Given the description of an element on the screen output the (x, y) to click on. 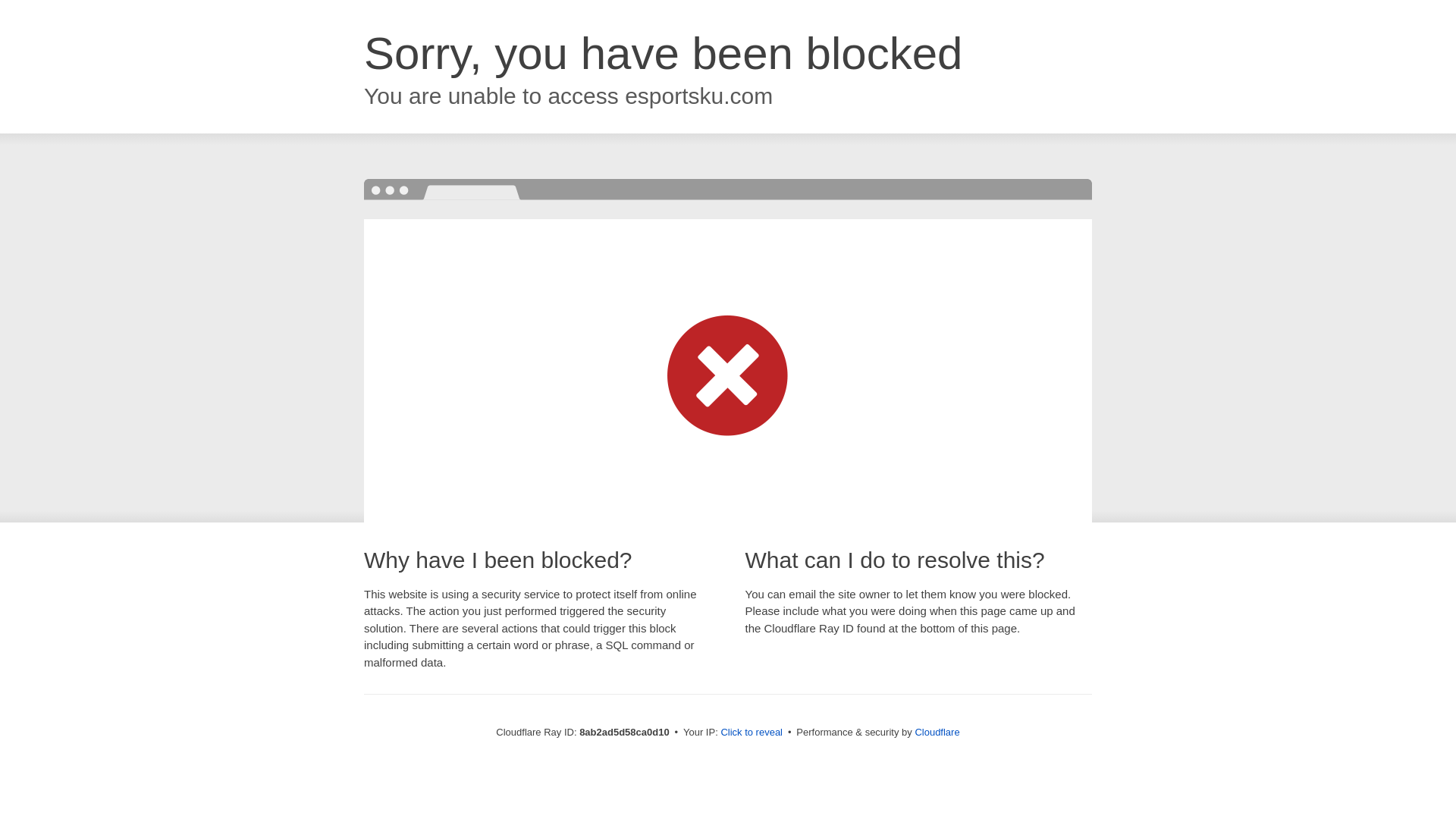
Click to reveal (751, 732)
Cloudflare (936, 731)
